Given the description of an element on the screen output the (x, y) to click on. 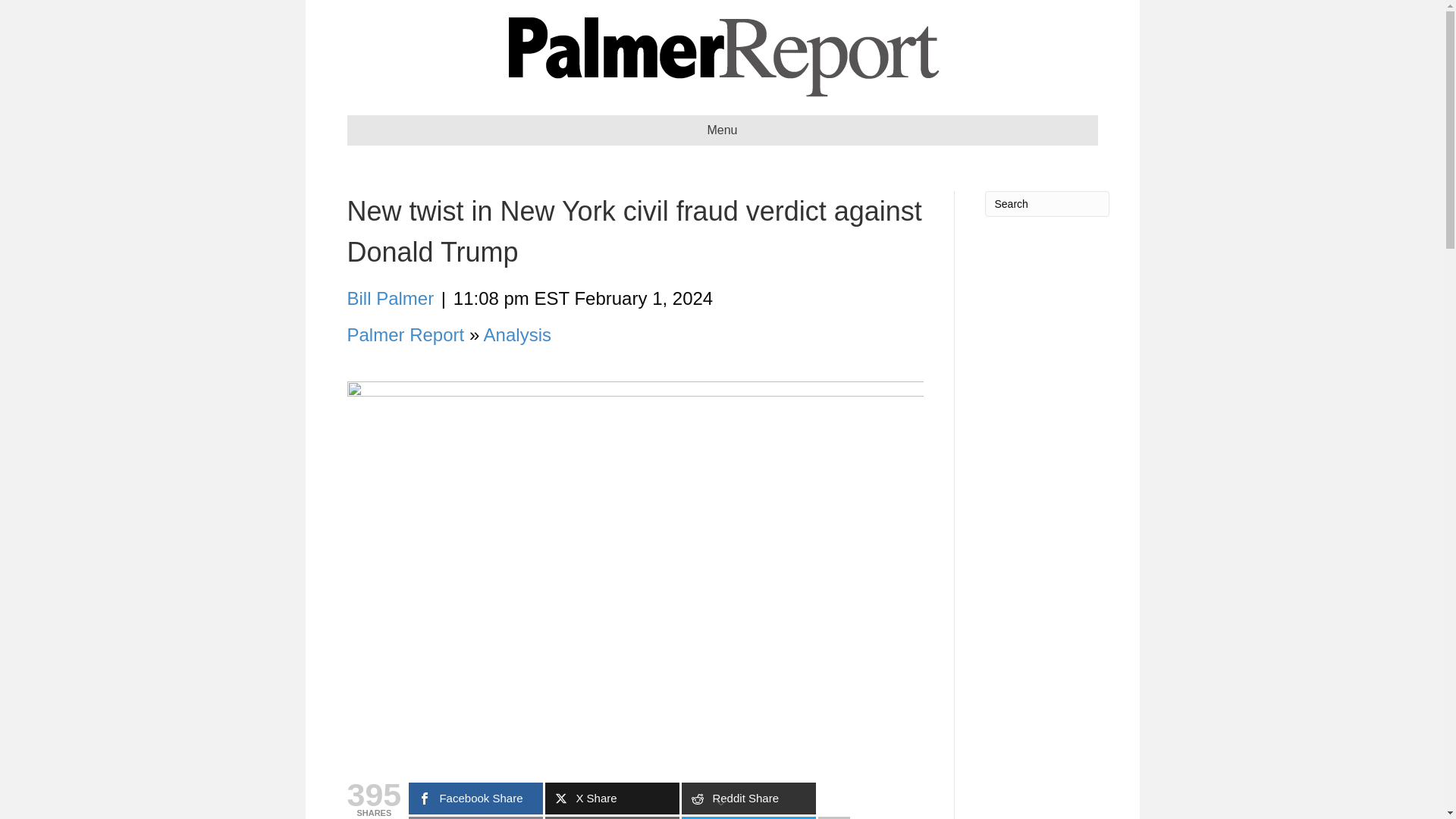
Analysis (517, 334)
Bill Palmer (390, 298)
Palmer Report (405, 334)
Reddit Share (748, 798)
Ad.Plus Advertising (722, 801)
LinkedIn Share (748, 817)
Email this article (476, 817)
Search (1046, 203)
Search (1046, 203)
Menu (722, 130)
X Share (611, 798)
Print Article (611, 817)
Facebook Share (476, 798)
Posts by Bill Palmer (390, 298)
Type and press Enter to search. (1046, 203)
